Given the description of an element on the screen output the (x, y) to click on. 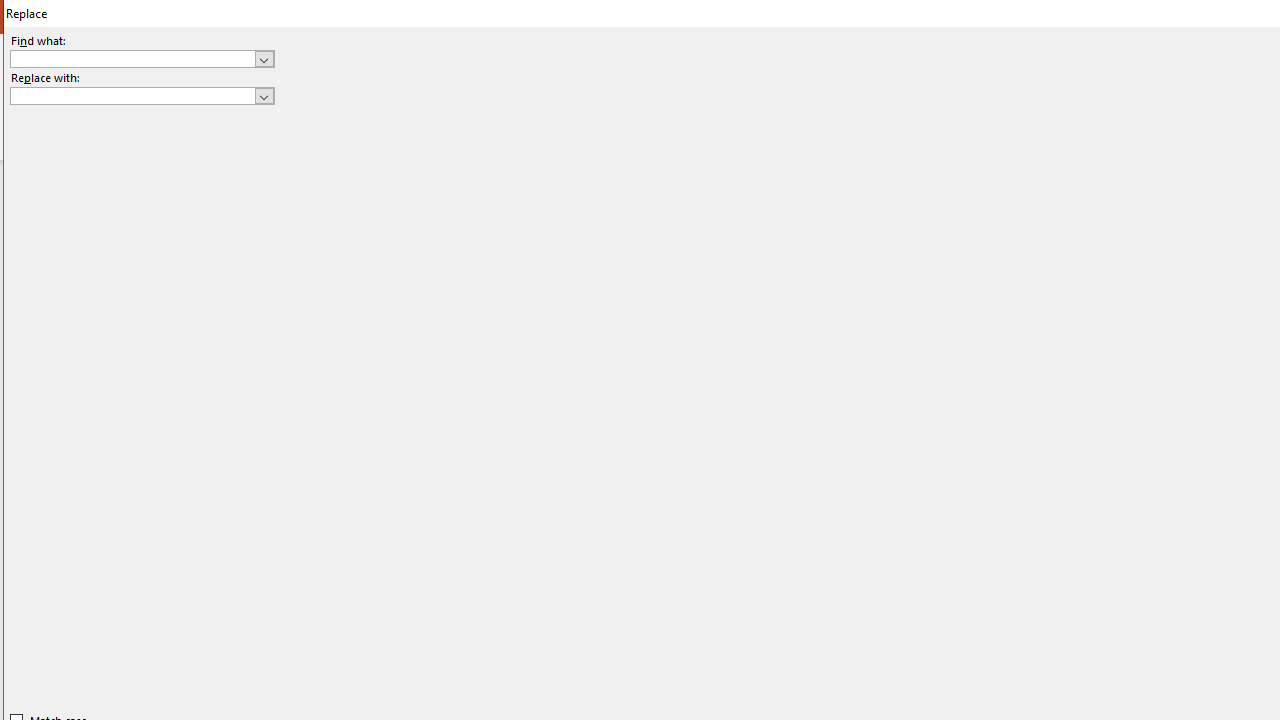
Find what (142, 58)
Replace with (142, 96)
Replace with (132, 95)
Find what (132, 58)
